Given the description of an element on the screen output the (x, y) to click on. 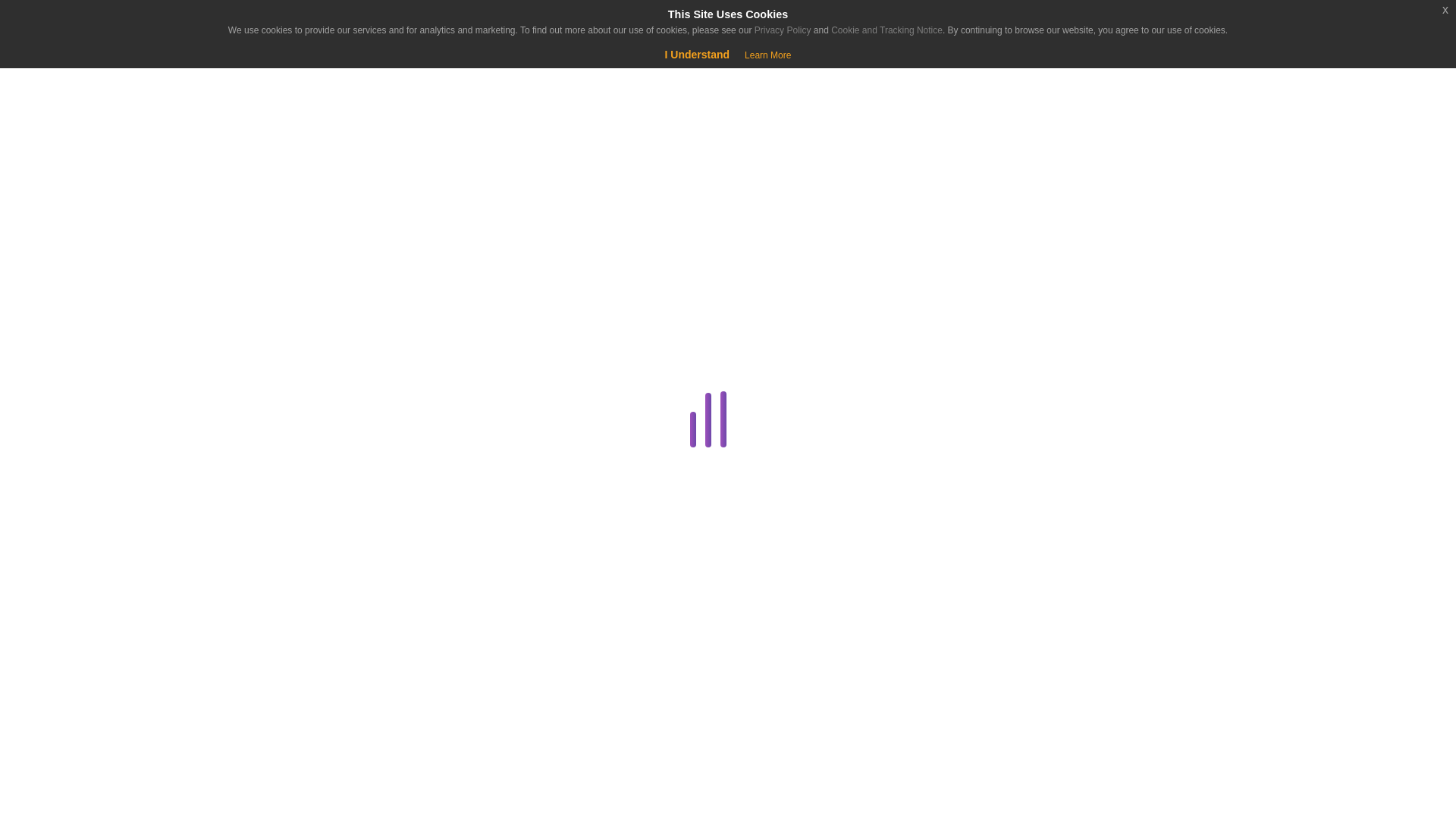
Linux Administration (281, 750)
Shopping Cart (59, 76)
General (281, 677)
Databases (281, 458)
Home (94, 138)
Software (281, 786)
Affiliates (283, 312)
Dedicated Server Guides (281, 495)
cPanel (281, 422)
Billing (281, 349)
Email (281, 604)
Domains API (283, 567)
Video Tutorials (281, 816)
Domains and DNS (281, 531)
FTP (283, 640)
